Given the description of an element on the screen output the (x, y) to click on. 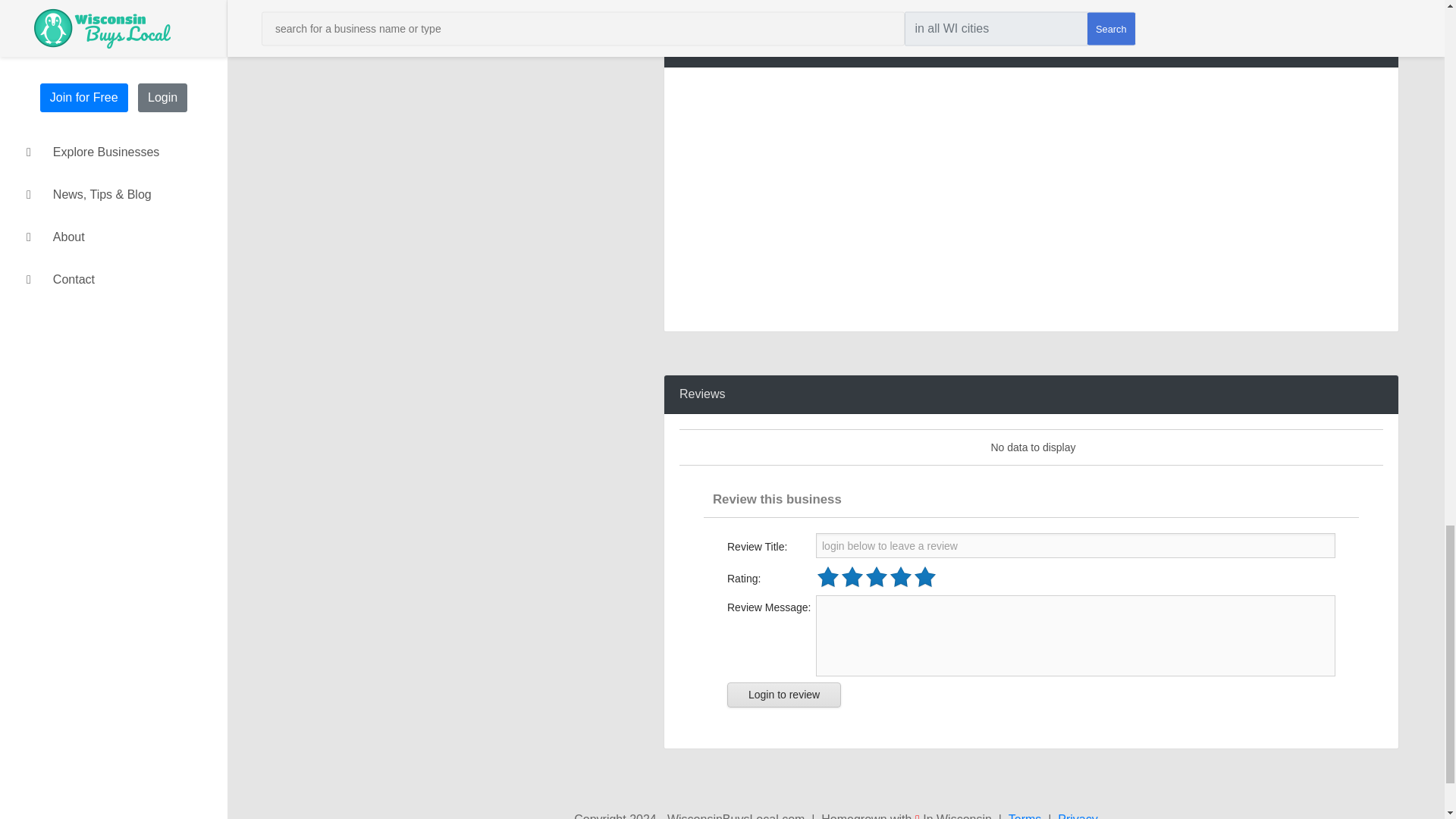
Privacy (1077, 814)
Terms (1025, 814)
login below to leave a review (1077, 545)
